Given the description of an element on the screen output the (x, y) to click on. 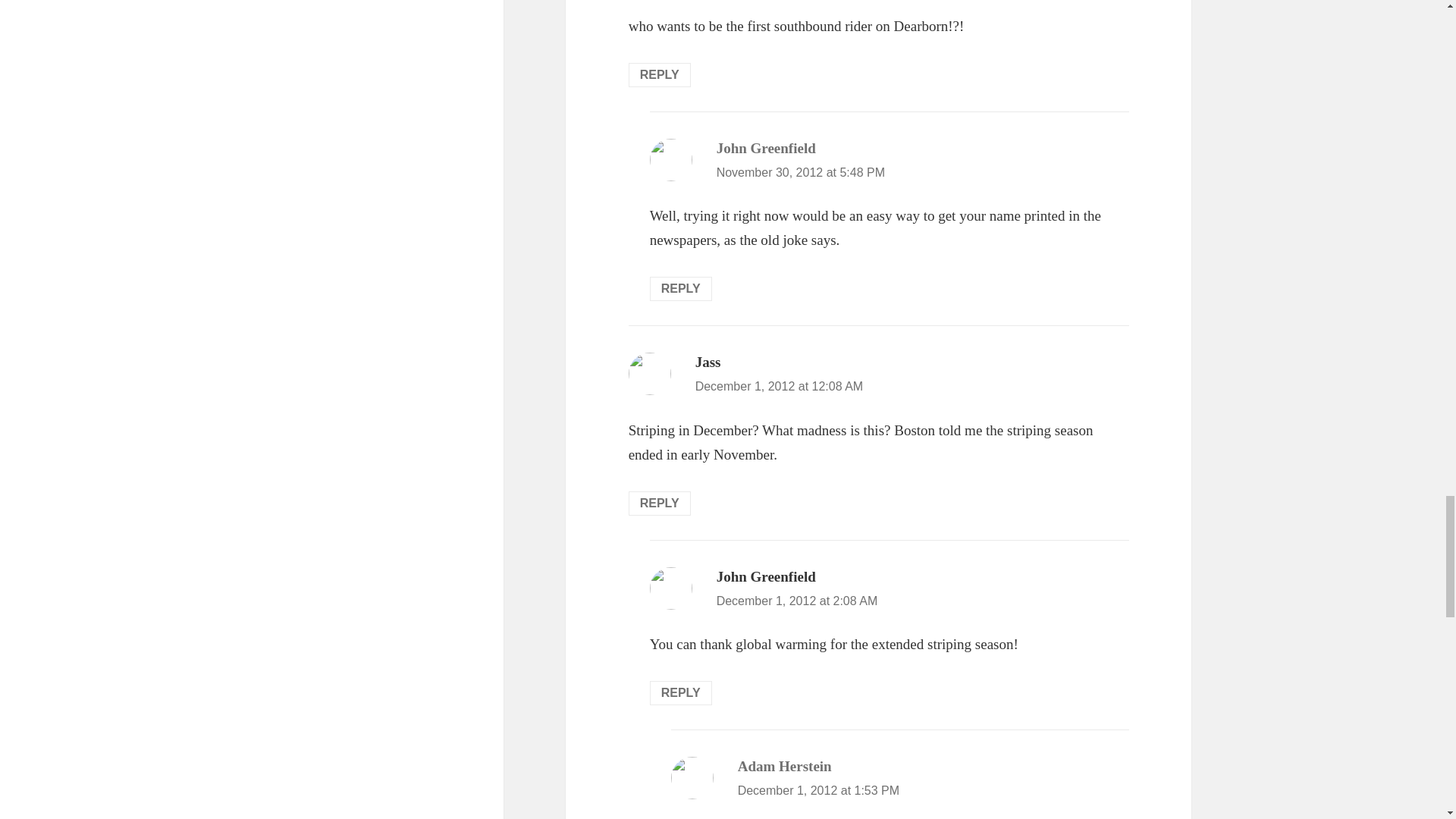
November 30, 2012 at 5:48 PM (800, 172)
REPLY (659, 74)
